Given the description of an element on the screen output the (x, y) to click on. 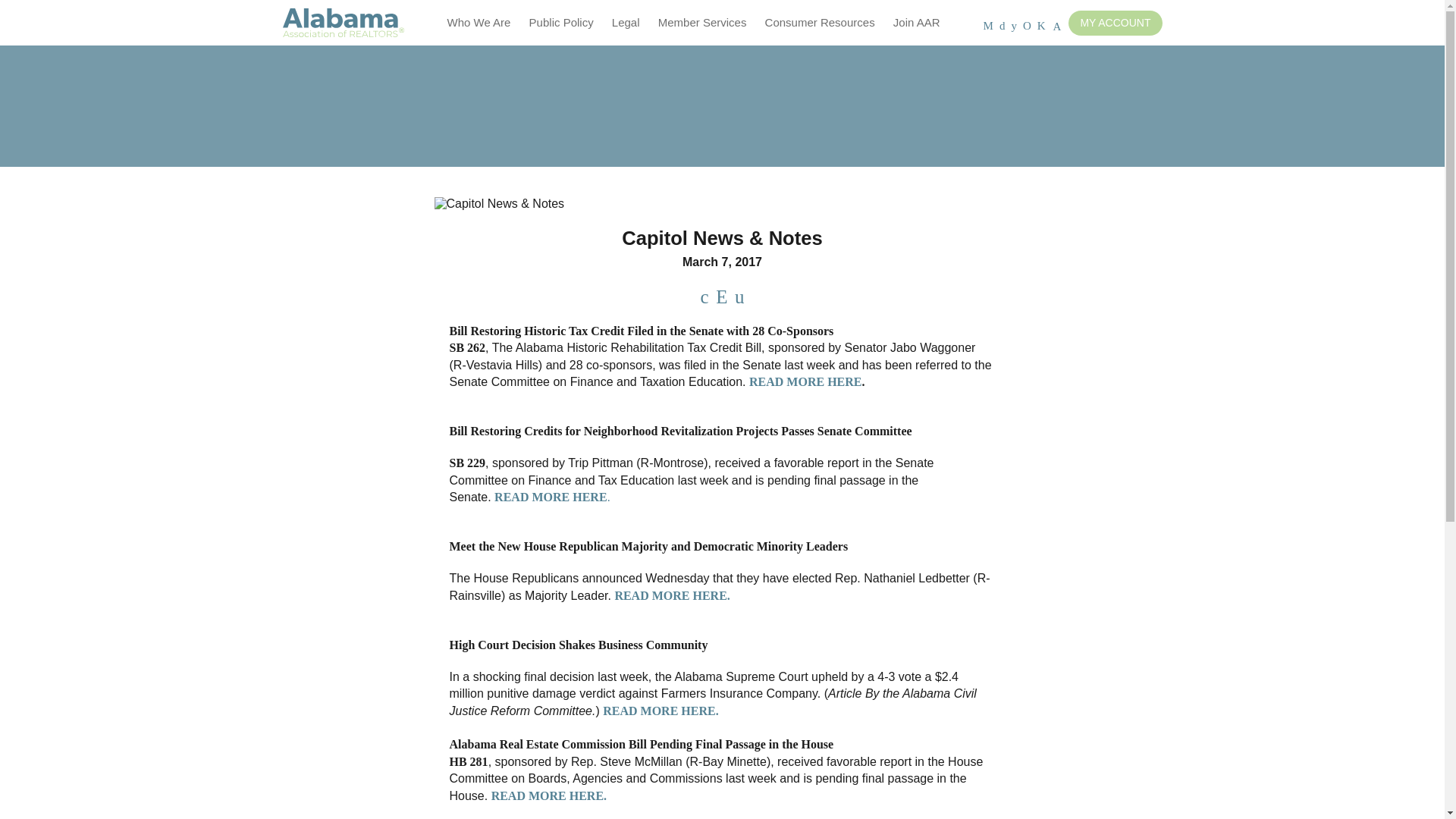
Consumer Resources (819, 22)
Page 1 (721, 431)
READ MORE HERE (805, 381)
Alabama Association of REALTORS (342, 22)
Who We Are (478, 22)
Public Policy (561, 22)
READ MORE HERE. (575, 505)
Page 1 (721, 373)
Legal (625, 22)
READ MORE HERE (658, 710)
MY ACCOUNT (1114, 23)
Who We Are (478, 22)
Public Policy (561, 22)
Legal (625, 22)
Consumer Resources (819, 22)
